Given the description of an element on the screen output the (x, y) to click on. 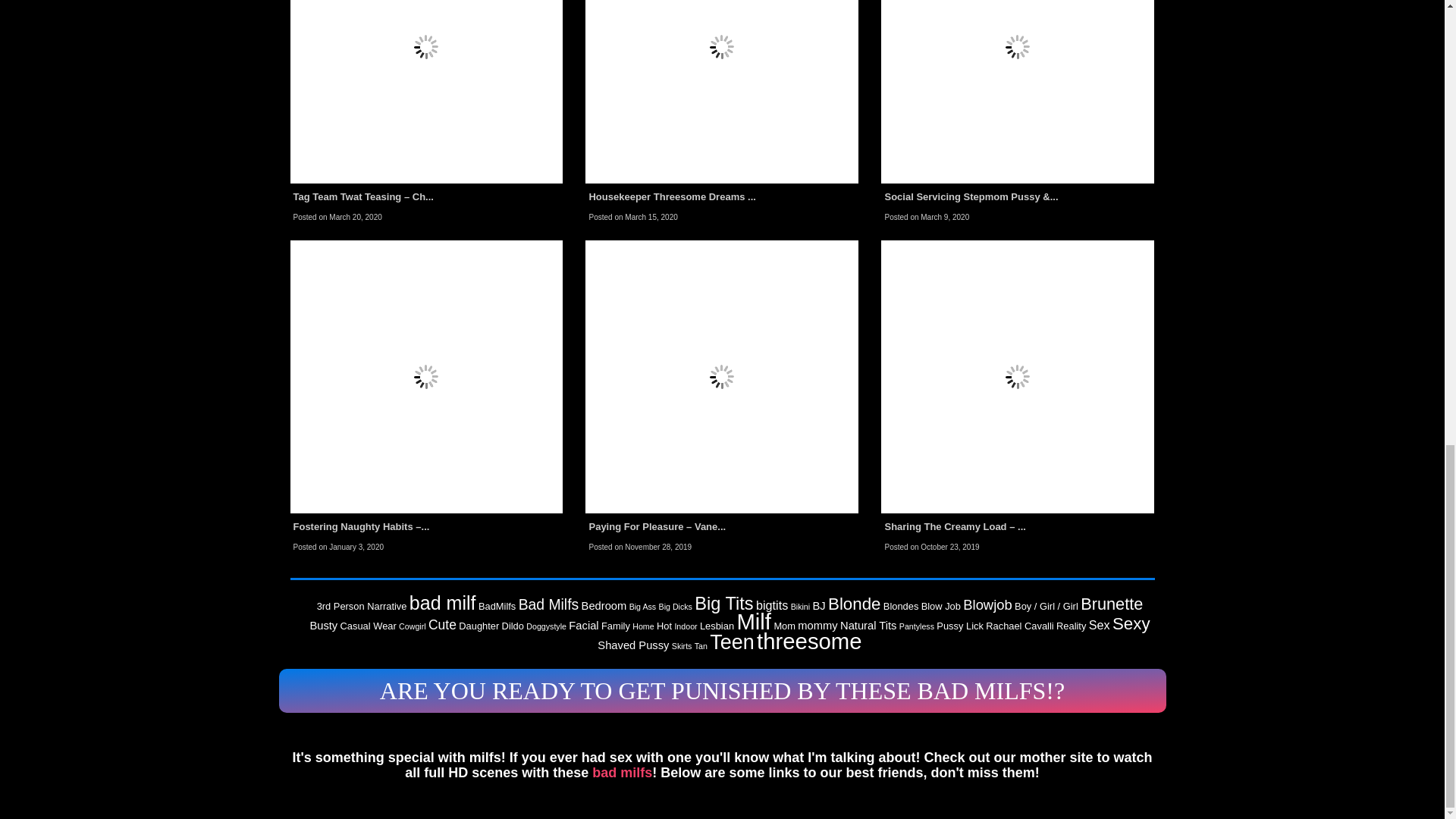
3rd Person Narrative (362, 605)
bad milf (442, 602)
Bad Milfs (548, 604)
BadMilfs (497, 605)
Bedroom (603, 605)
